Given the description of an element on the screen output the (x, y) to click on. 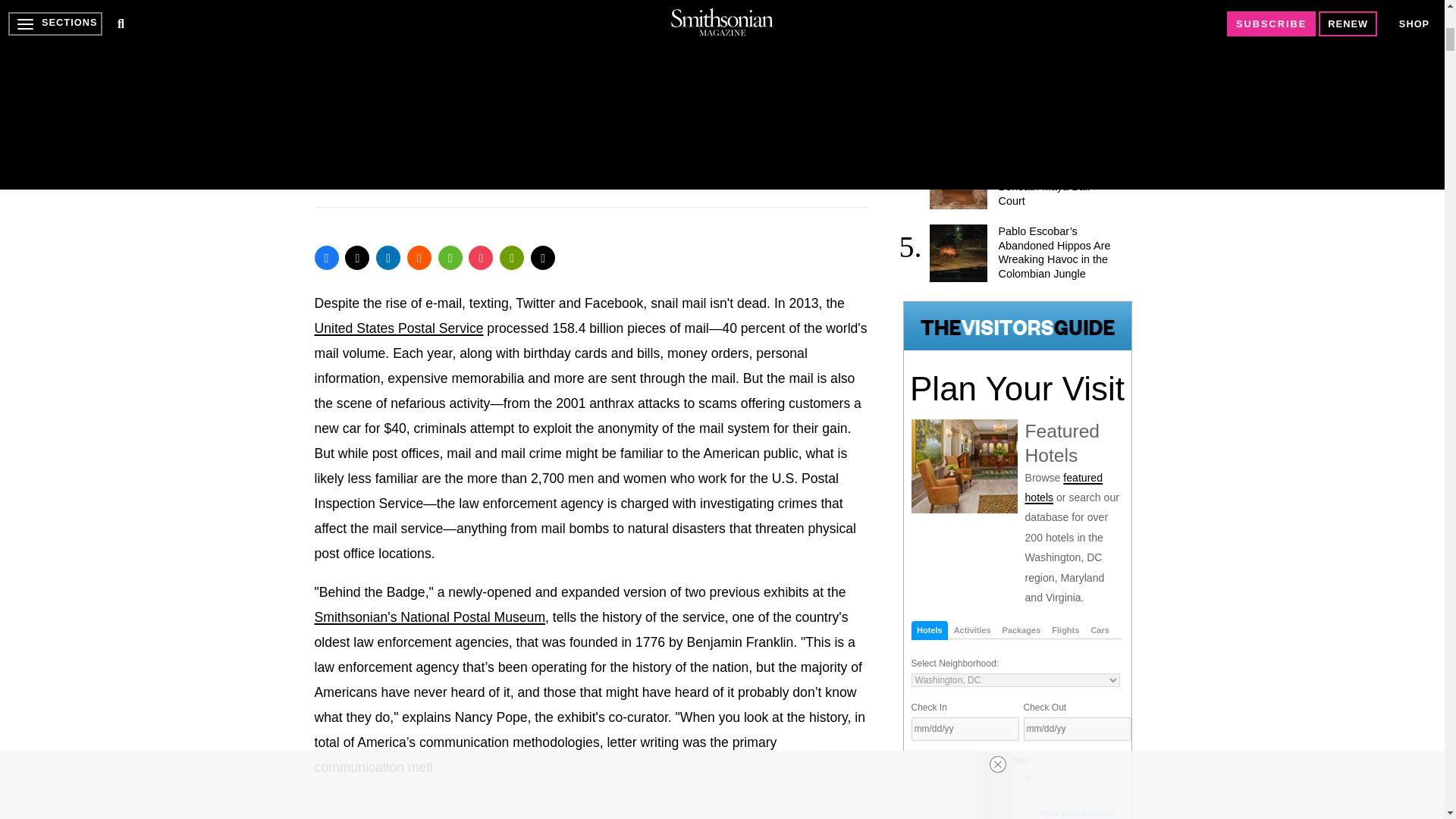
LinkedIn (387, 257)
Facebook (325, 257)
Twitter (357, 257)
Reddit (418, 257)
Search (942, 808)
Previous (823, 105)
Next (842, 105)
